Given the description of an element on the screen output the (x, y) to click on. 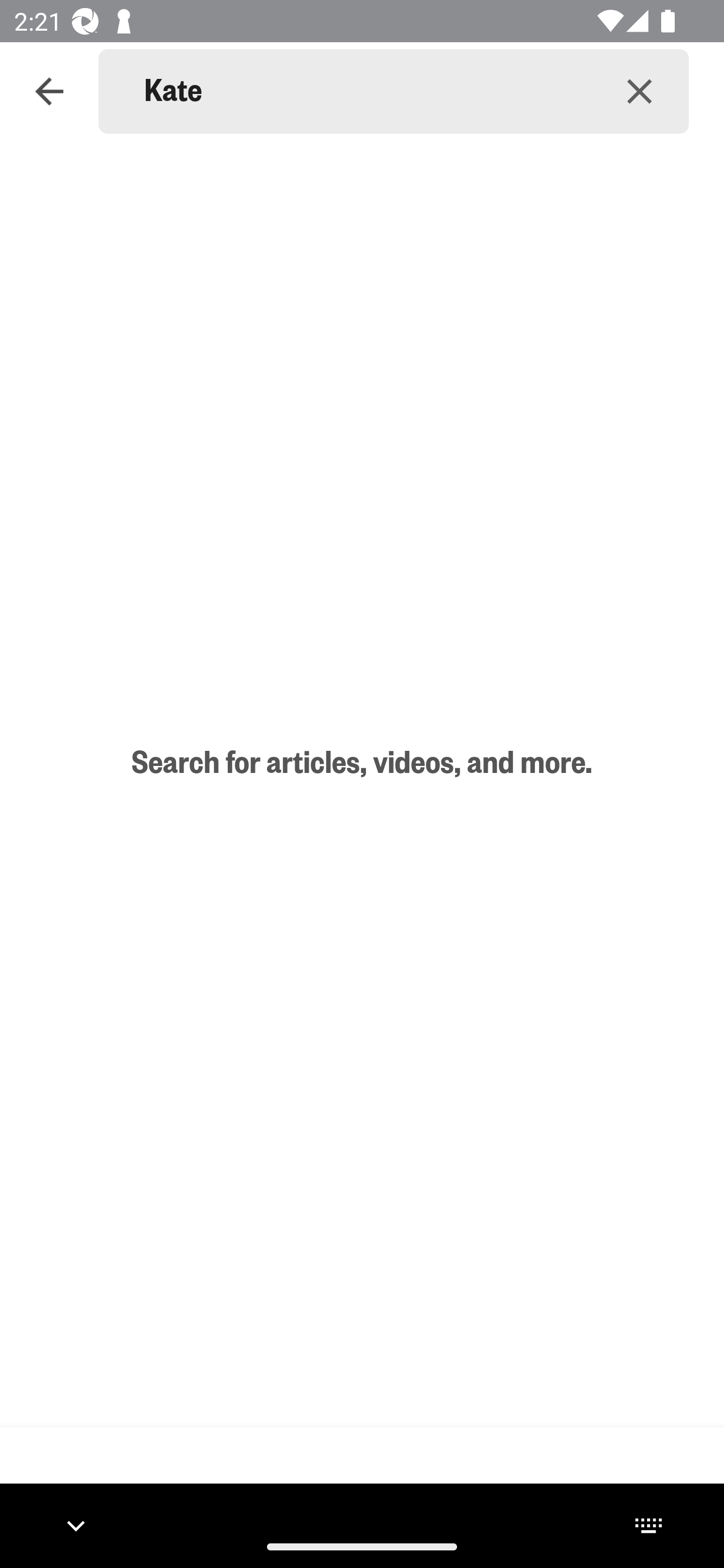
Navigate up (49, 91)
Clear query (639, 90)
Kate (367, 91)
